Given the description of an element on the screen output the (x, y) to click on. 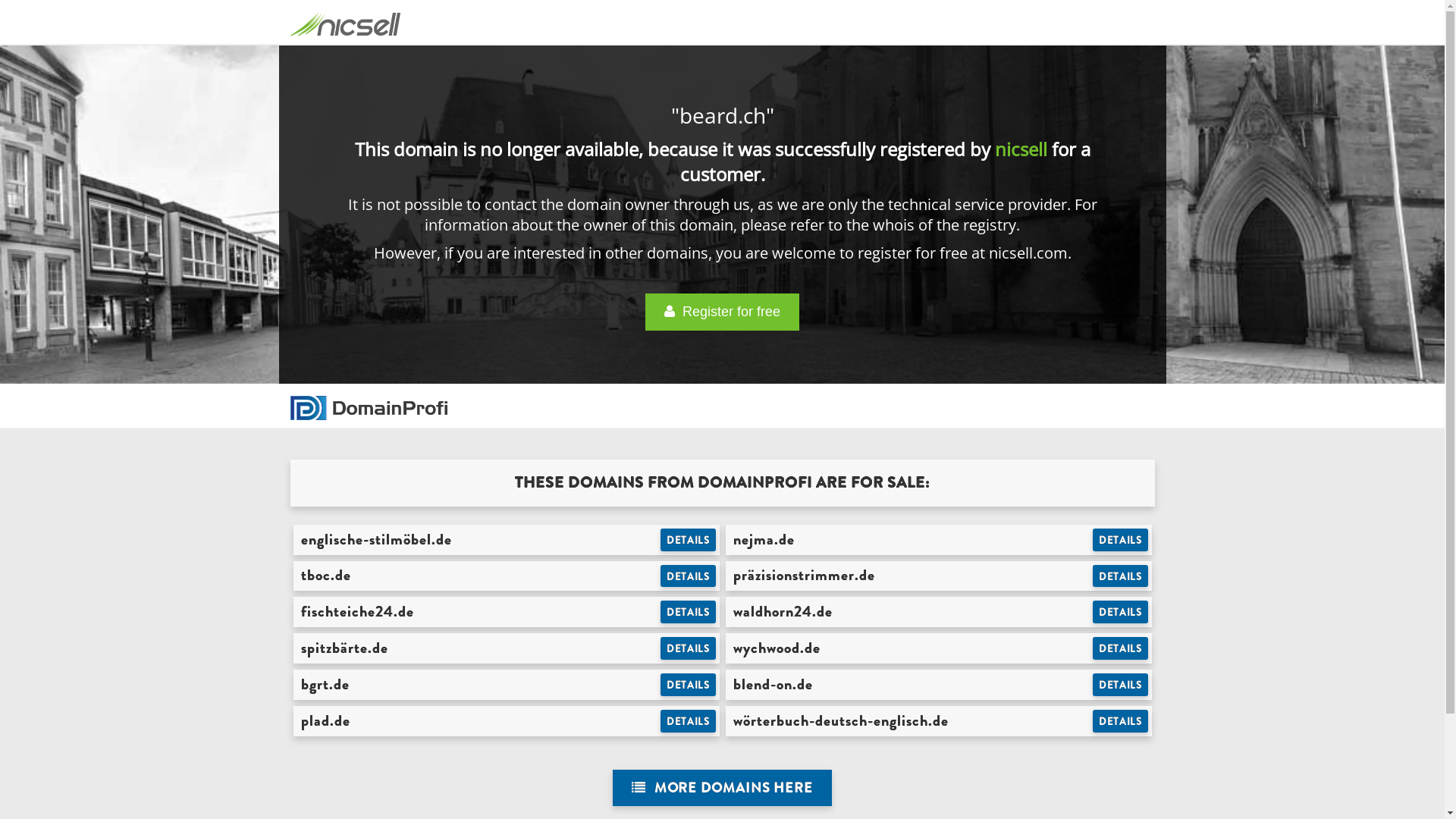
DETAILS Element type: text (687, 684)
DETAILS Element type: text (1120, 648)
DETAILS Element type: text (687, 539)
DETAILS Element type: text (1120, 720)
DETAILS Element type: text (687, 720)
DETAILS Element type: text (1120, 611)
DETAILS Element type: text (687, 648)
DETAILS Element type: text (1120, 575)
  Register for free Element type: text (722, 311)
DETAILS Element type: text (1120, 539)
DETAILS Element type: text (1120, 684)
DETAILS Element type: text (687, 611)
nicsell Element type: text (1020, 148)
DETAILS Element type: text (687, 575)
  MORE DOMAINS HERE Element type: text (721, 787)
